Given the description of an element on the screen output the (x, y) to click on. 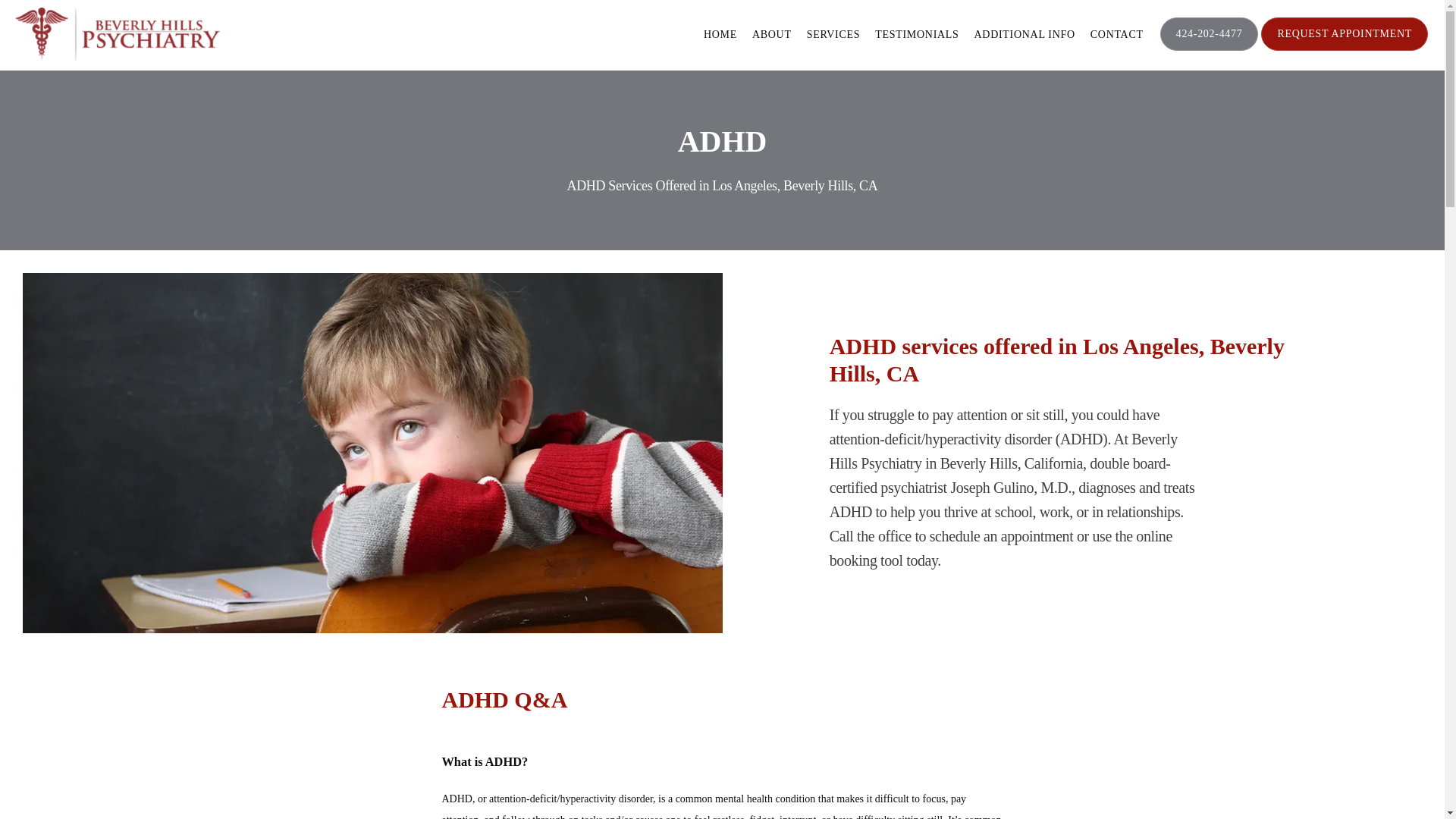
TESTIMONIALS (916, 34)
ADDITIONAL INFO (1024, 34)
ABOUT (772, 34)
REQUEST APPOINTMENT (1344, 49)
CONTACT (1116, 34)
HOME (719, 34)
SERVICES (833, 34)
424-202-4477 (1209, 49)
